Given the description of an element on the screen output the (x, y) to click on. 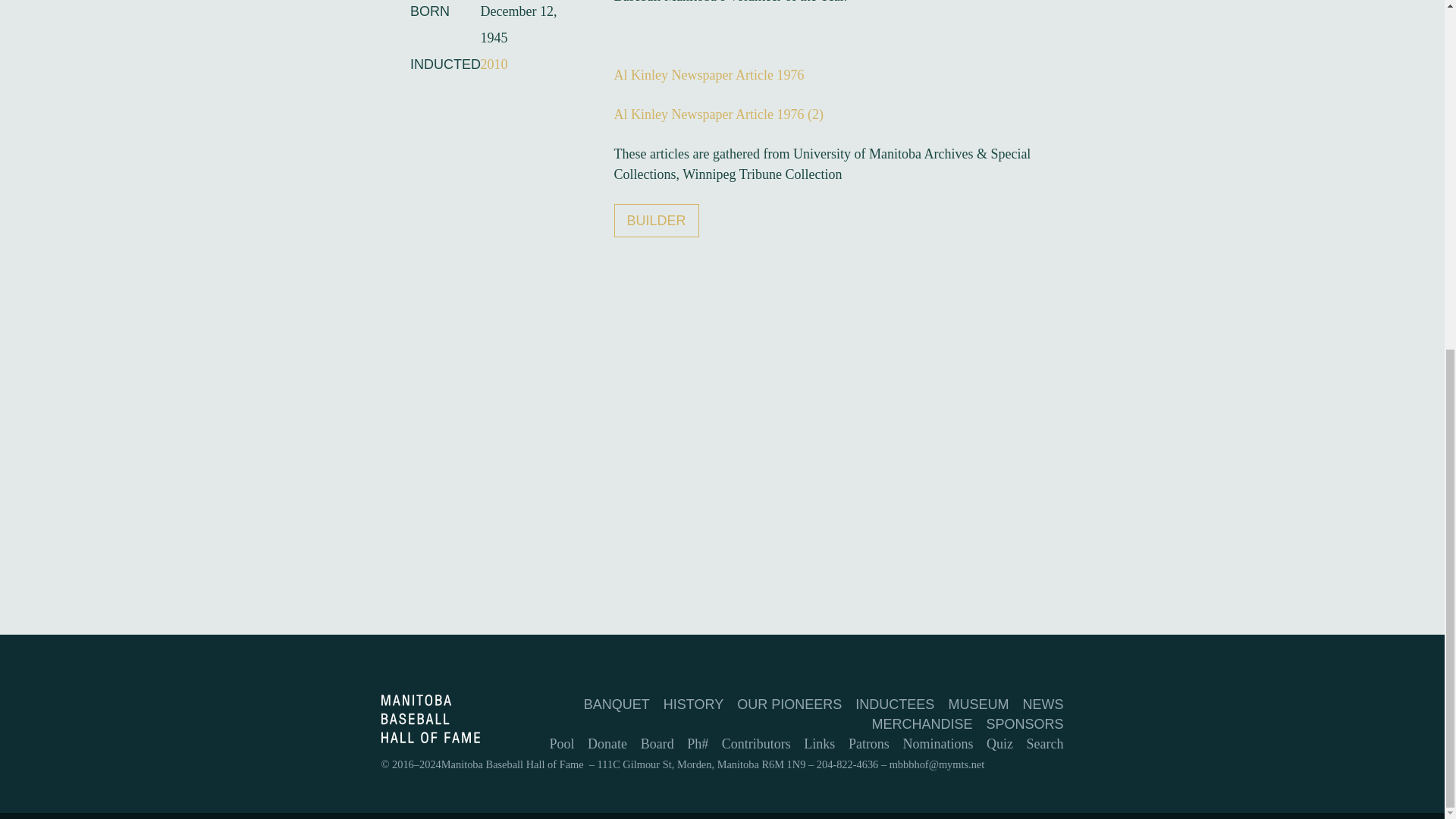
HISTORY (693, 703)
Al Kinley Newspaper Article 1976 (709, 74)
Builder (656, 220)
OUR PIONEERS (788, 703)
Manitoba Baseball Hall of Fame (429, 738)
Board (657, 743)
BUILDER (656, 220)
SPONSORS (1023, 724)
Contributors (756, 743)
BANQUET (616, 703)
Donate (607, 743)
2010 (493, 64)
MUSEUM (978, 703)
Links (818, 743)
NEWS (1042, 703)
